Given the description of an element on the screen output the (x, y) to click on. 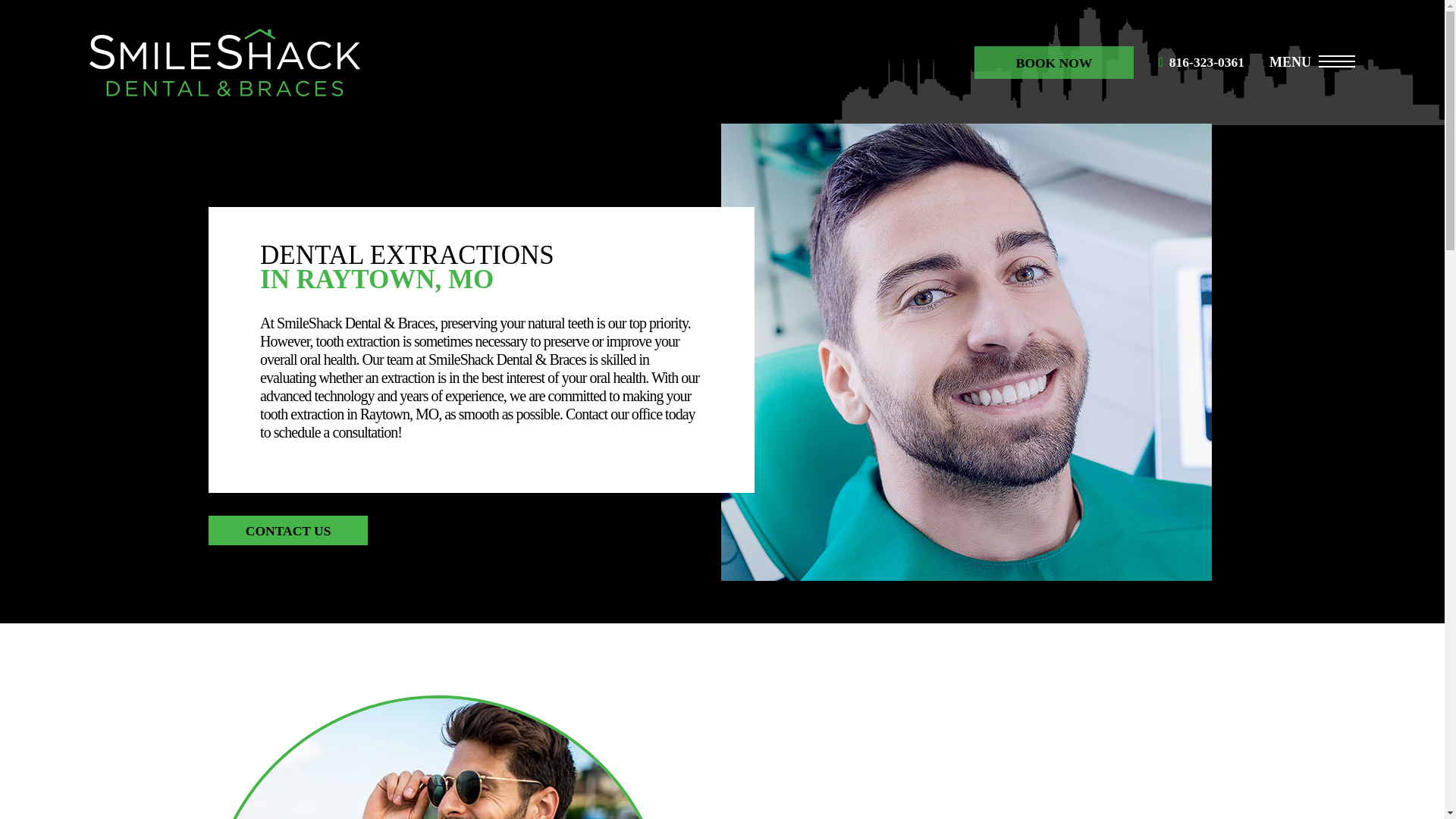
MENU (1312, 63)
816-323-0361 (1213, 62)
CONTACT US (288, 529)
BOOK NOW (1054, 61)
816-323-0361 (1213, 62)
